Given the description of an element on the screen output the (x, y) to click on. 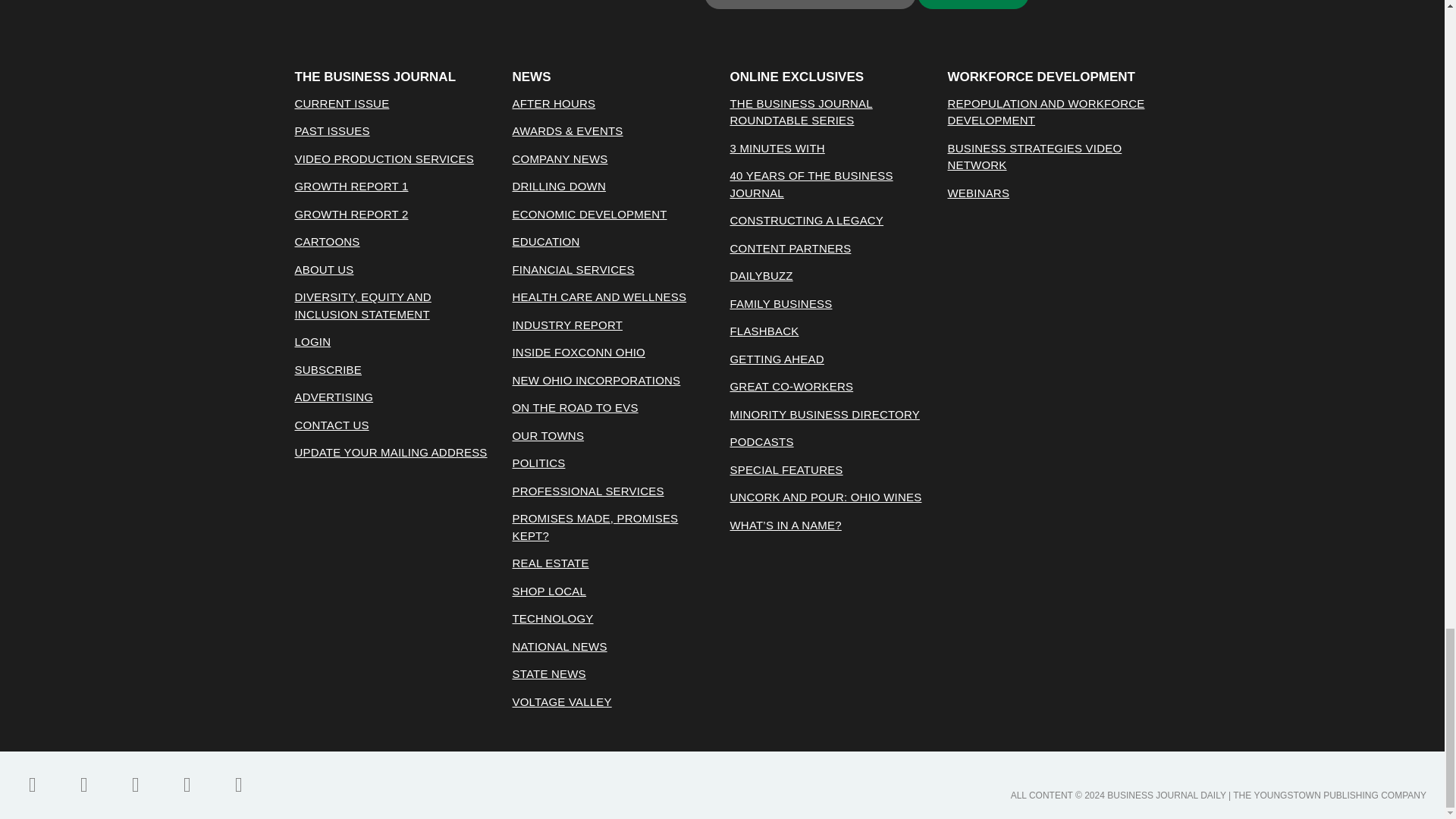
Twitter (83, 784)
Facebook (32, 784)
Sign Up (973, 4)
